Given the description of an element on the screen output the (x, y) to click on. 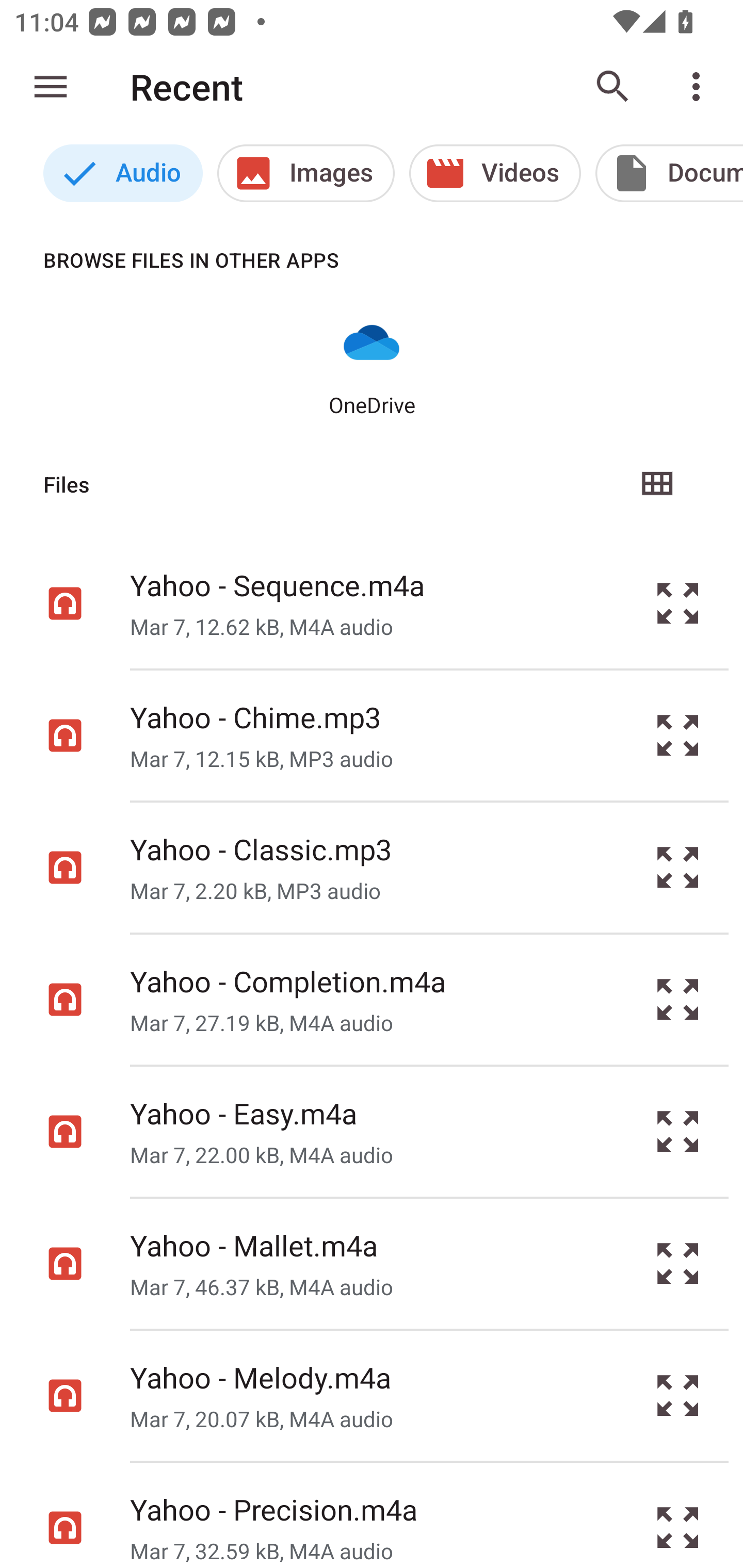
Show roots (50, 86)
Search (612, 86)
More options (699, 86)
Audio (122, 173)
Images (305, 173)
Videos (495, 173)
Documents (669, 173)
OneDrive (371, 365)
Grid view (655, 484)
Preview the file Yahoo - Sequence.m4a (677, 602)
Preview the file Yahoo - Chime.mp3 (677, 736)
Preview the file Yahoo - Classic.mp3 (677, 867)
Preview the file Yahoo - Completion.m4a (677, 999)
Preview the file Yahoo - Easy.m4a (677, 1131)
Preview the file Yahoo - Mallet.m4a (677, 1262)
Preview the file Yahoo - Melody.m4a (677, 1396)
Preview the file Yahoo - Precision.m4a (677, 1515)
